Given the description of an element on the screen output the (x, y) to click on. 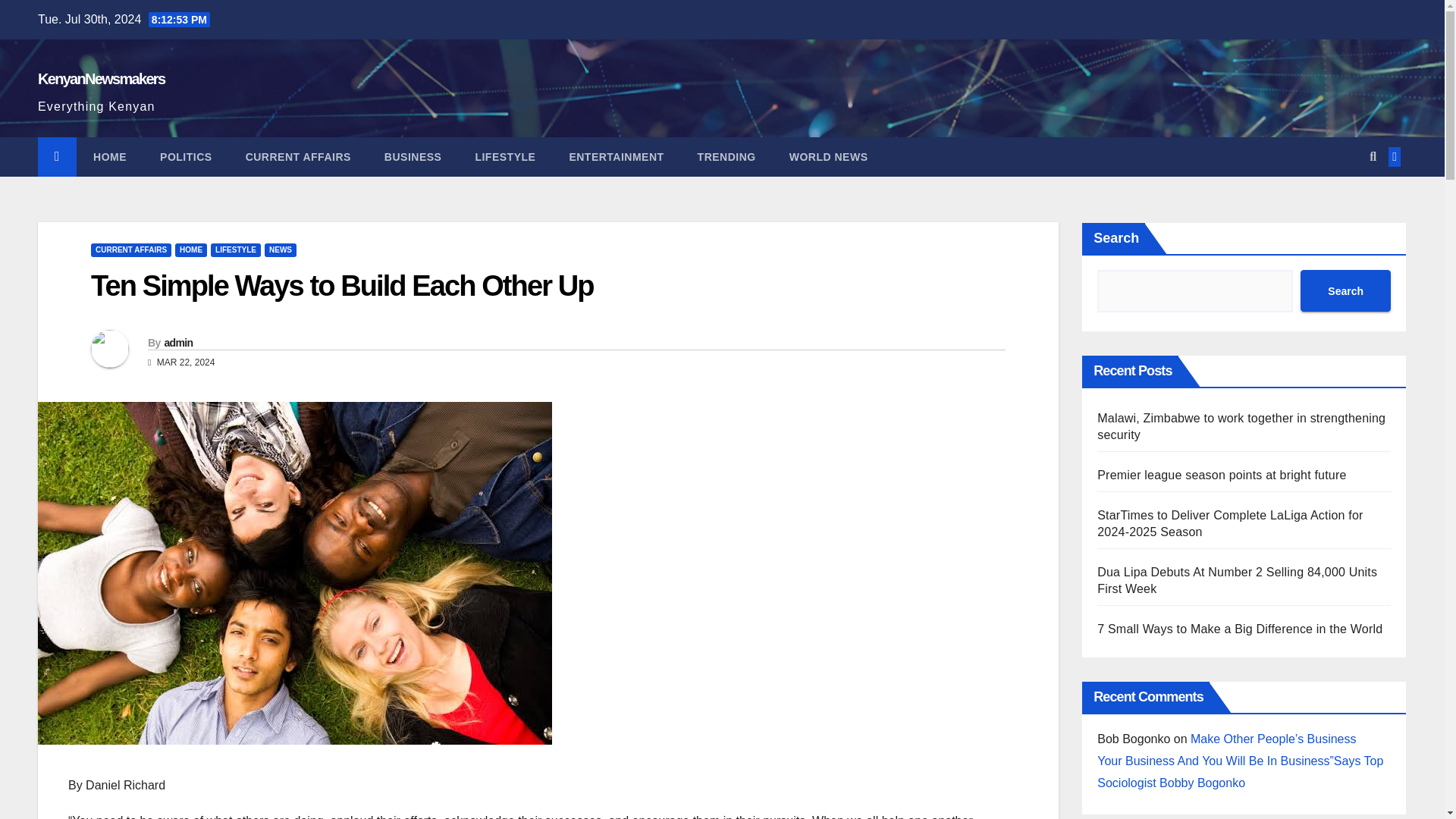
HOME (190, 250)
Current affairs (298, 156)
CURRENT AFFAIRS (298, 156)
Permalink to: Ten Simple Ways to Build Each Other Up (342, 286)
BUSINESS (413, 156)
CURRENT AFFAIRS (130, 250)
Home (109, 156)
LIFESTYLE (504, 156)
NEWS (280, 250)
Lifestyle (504, 156)
HOME (109, 156)
ENTERTAINMENT (615, 156)
WORLD NEWS (829, 156)
LIFESTYLE (235, 250)
Trending (727, 156)
